Given the description of an element on the screen output the (x, y) to click on. 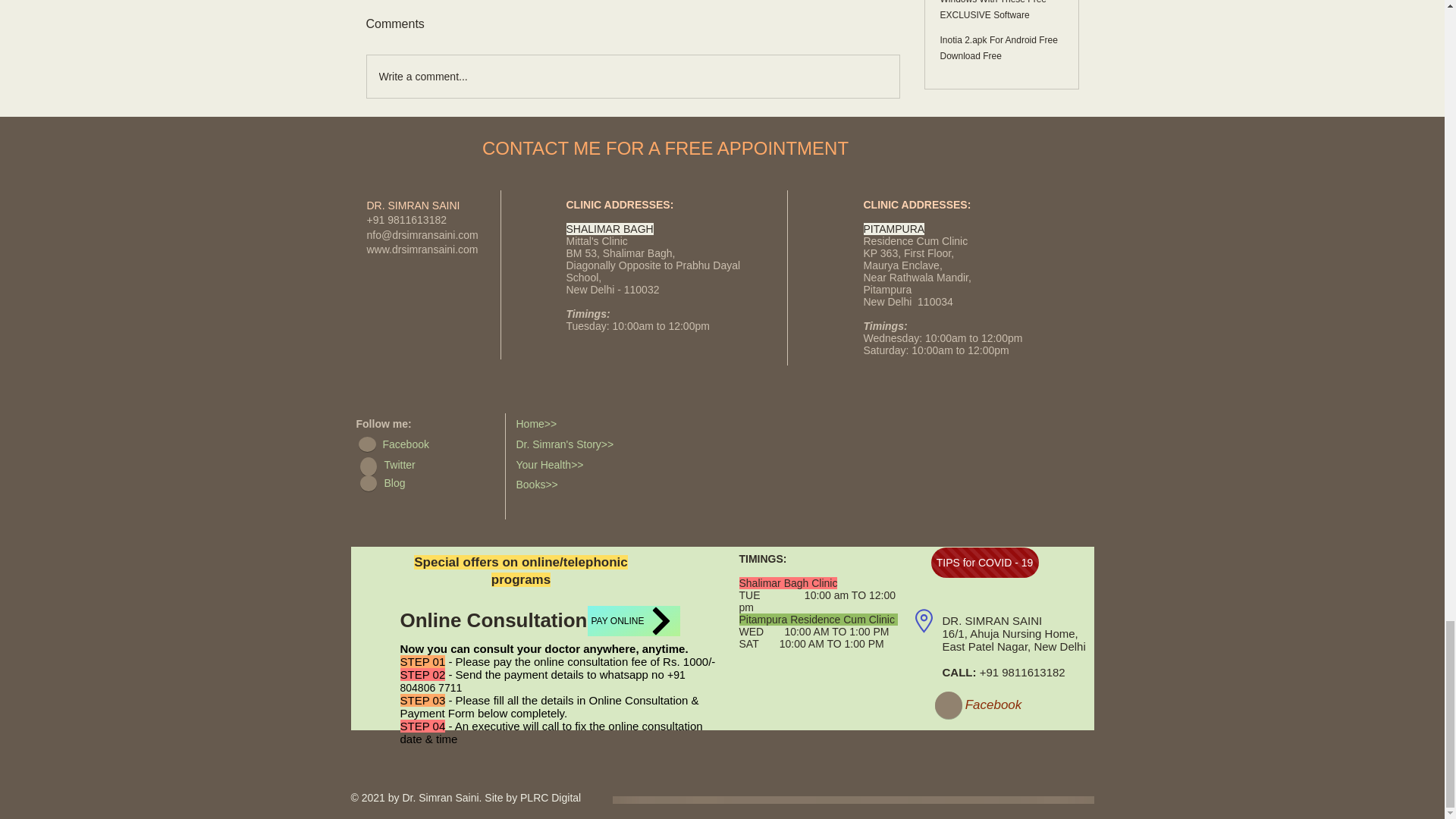
TIPS for COVID - 19 (985, 562)
Twitter (426, 465)
Facebook (992, 705)
www.drsimransaini.com (422, 249)
PAY ONLINE (632, 621)
Write a comment... (632, 76)
Facebook (424, 445)
